Given the description of an element on the screen output the (x, y) to click on. 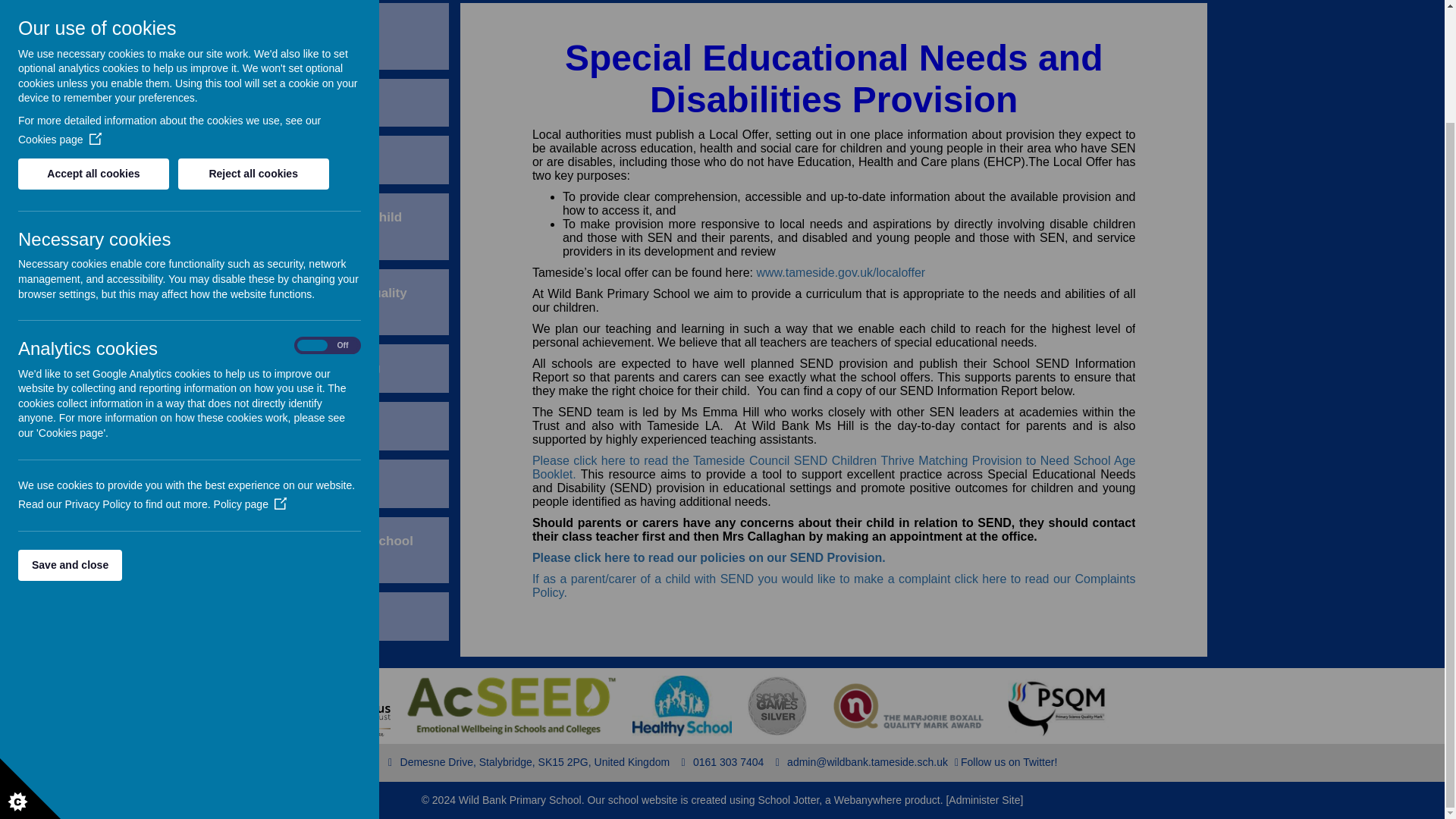
Cookie Control Icon (30, 654)
on (327, 211)
